Given the description of an element on the screen output the (x, y) to click on. 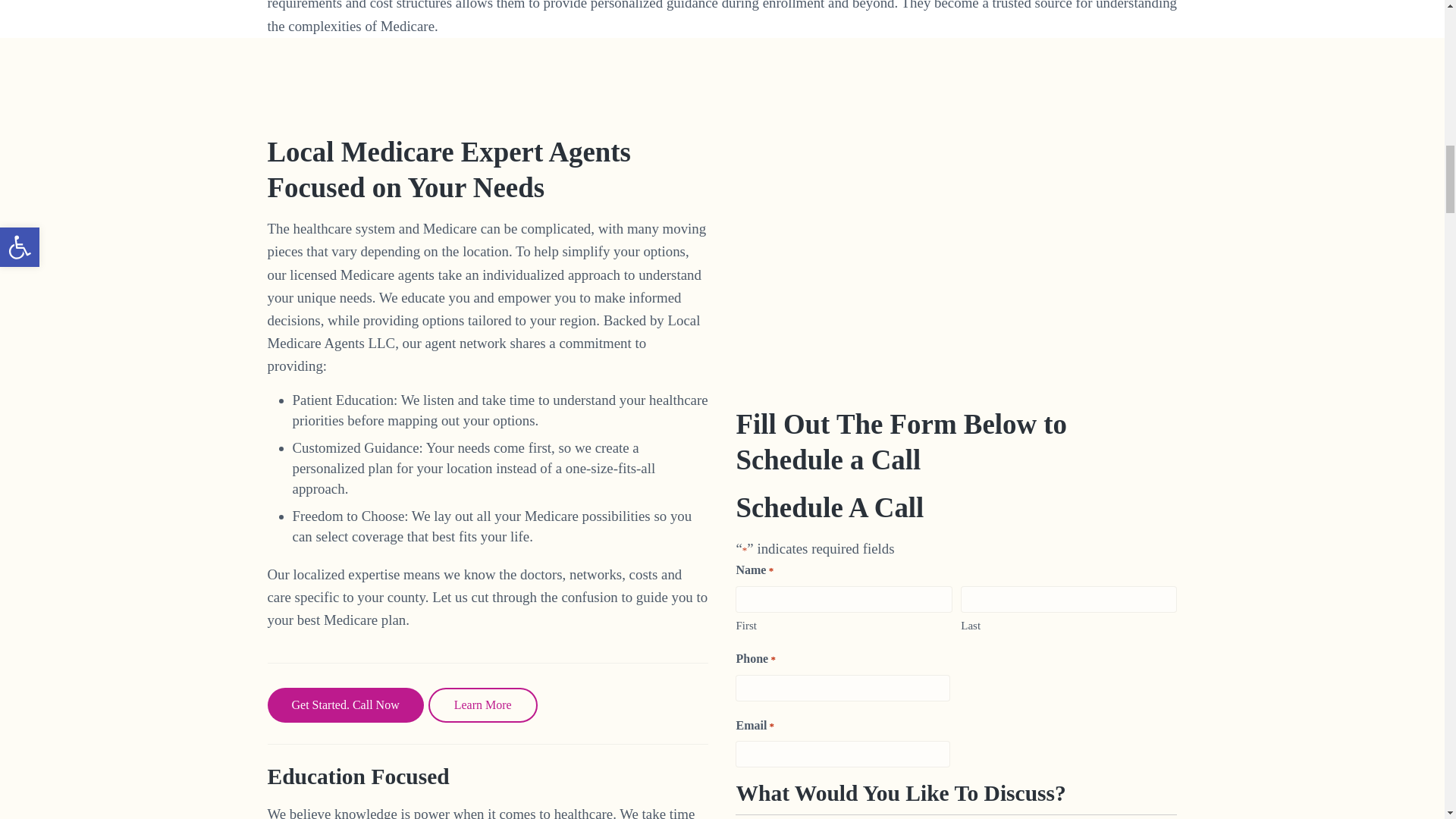
Local Medicare Agents (955, 270)
Get Started. Call Now (344, 704)
Learn More (482, 704)
